Given the description of an element on the screen output the (x, y) to click on. 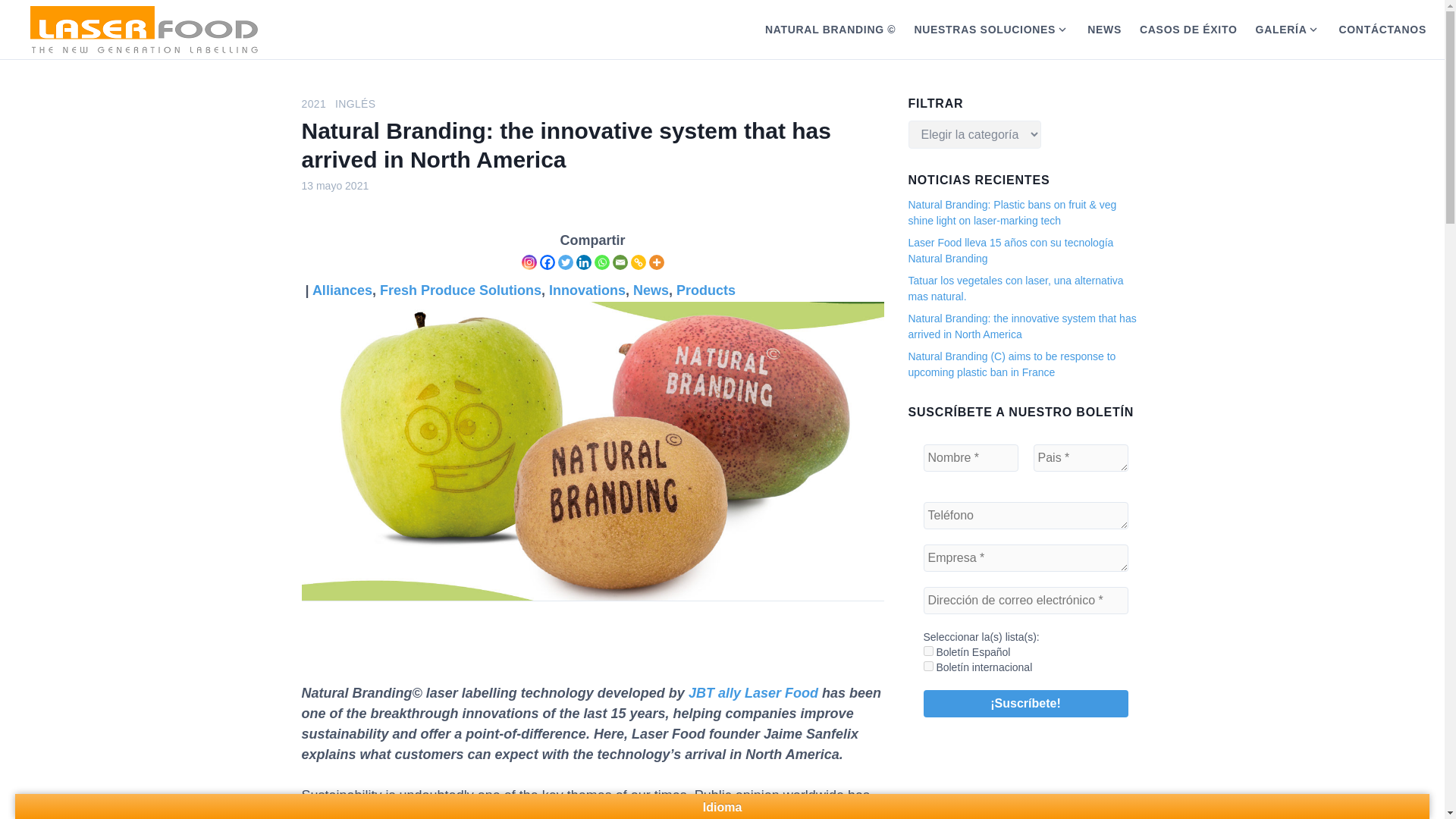
Innovations (587, 290)
NUESTRAS SOLUCIONES (979, 28)
4 (928, 651)
Fresh Produce Solutions (460, 290)
3 (928, 665)
News (650, 290)
Alliances (342, 290)
2021 (313, 103)
Whatsapp (602, 262)
Nombre (970, 457)
